Given the description of an element on the screen output the (x, y) to click on. 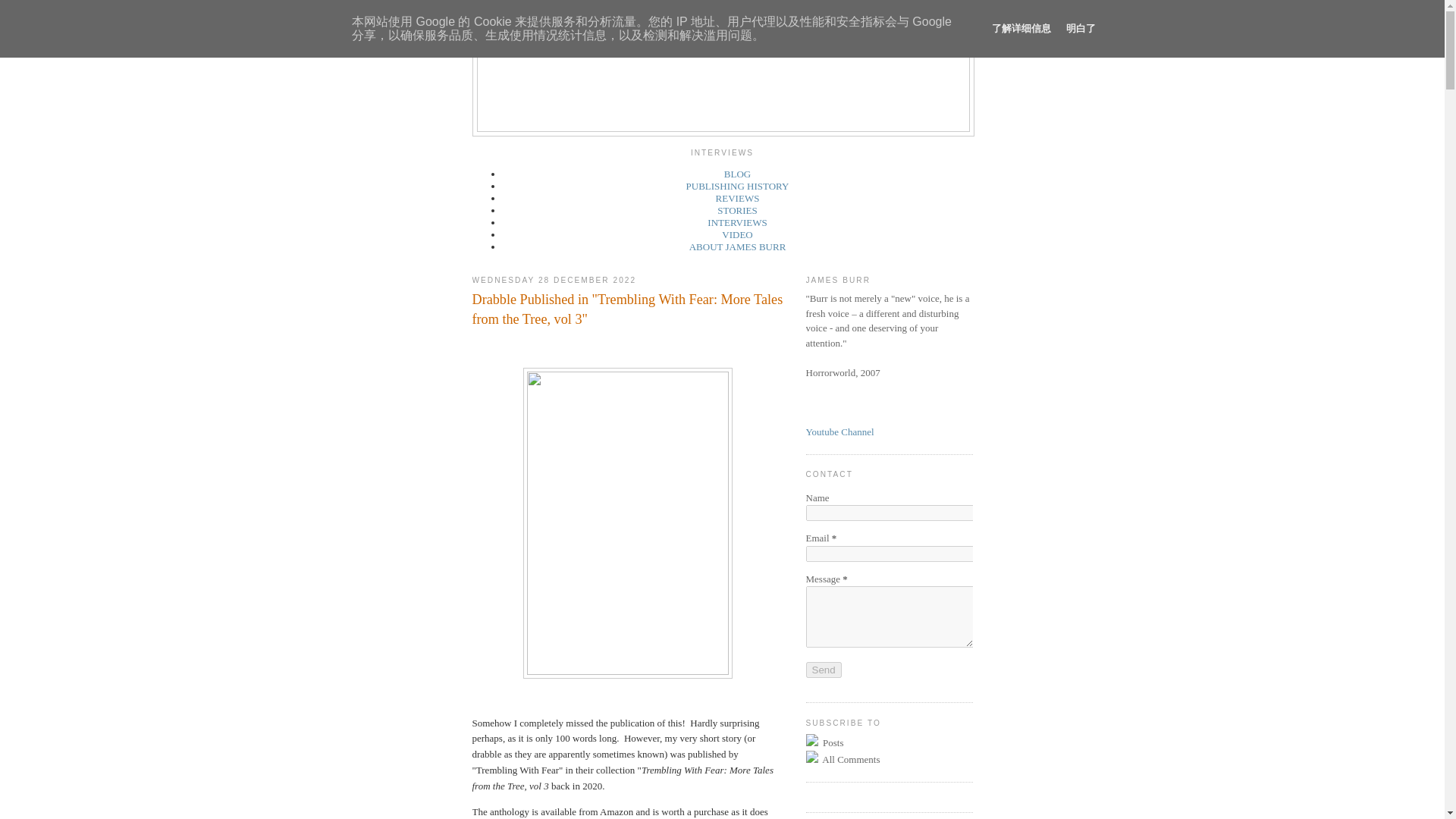
Send (823, 669)
REVIEWS (738, 197)
ABOUT JAMES BURR (737, 246)
BLOG (737, 173)
STORIES (737, 210)
Youtube Channel (839, 431)
VIDEO (737, 234)
INTERVIEWS (737, 222)
PUBLISHING HISTORY (737, 185)
